Given the description of an element on the screen output the (x, y) to click on. 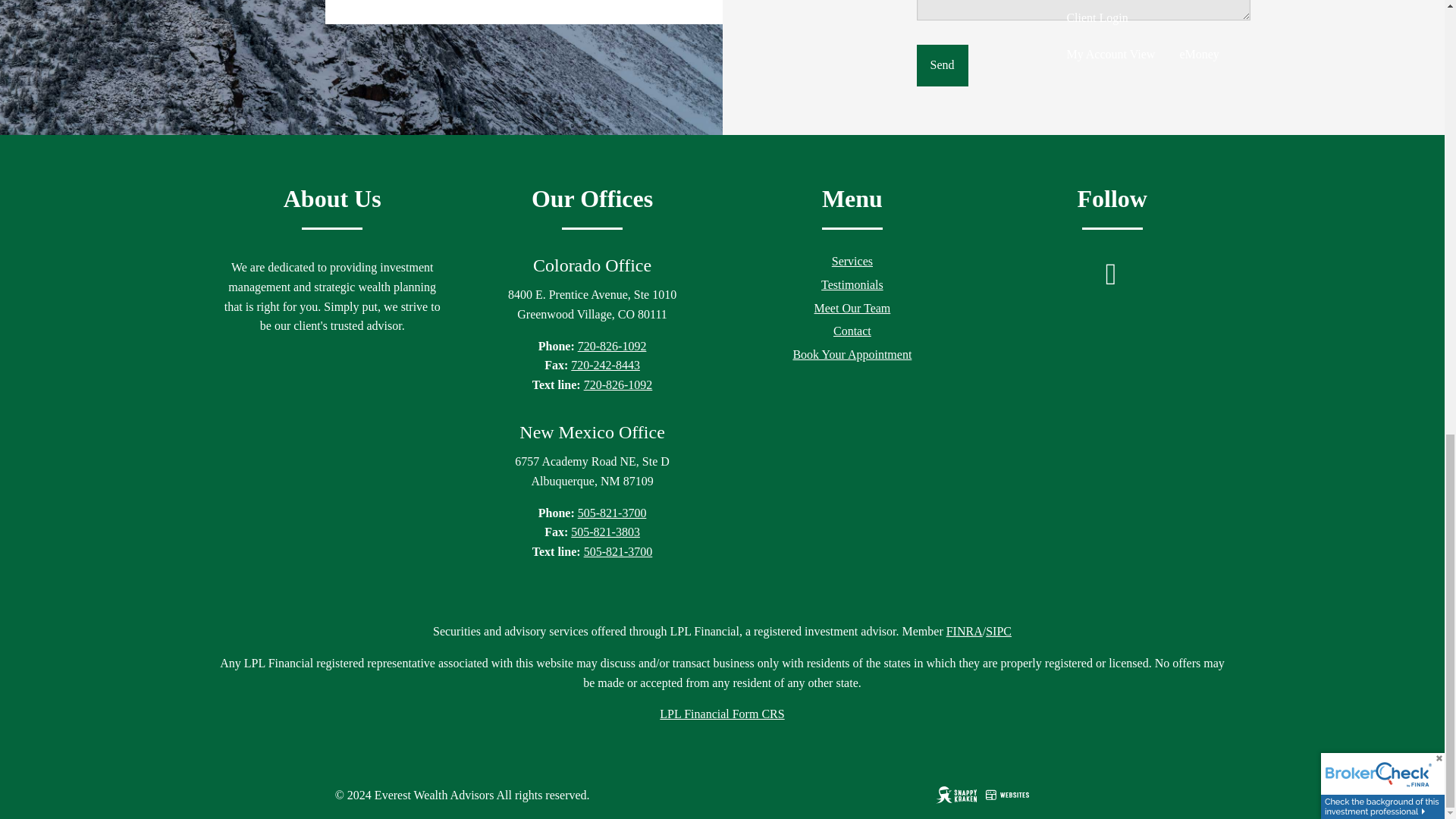
720-242-8443 (605, 364)
Call Our Albuquerque Office (612, 512)
LPL Financial Form CRS (721, 713)
720-826-1092 (617, 384)
Contact (851, 331)
Send (941, 65)
Services (851, 261)
Client Login (1142, 18)
Text Our Albuquerque Office (617, 551)
Testimonials (852, 284)
